Given the description of an element on the screen output the (x, y) to click on. 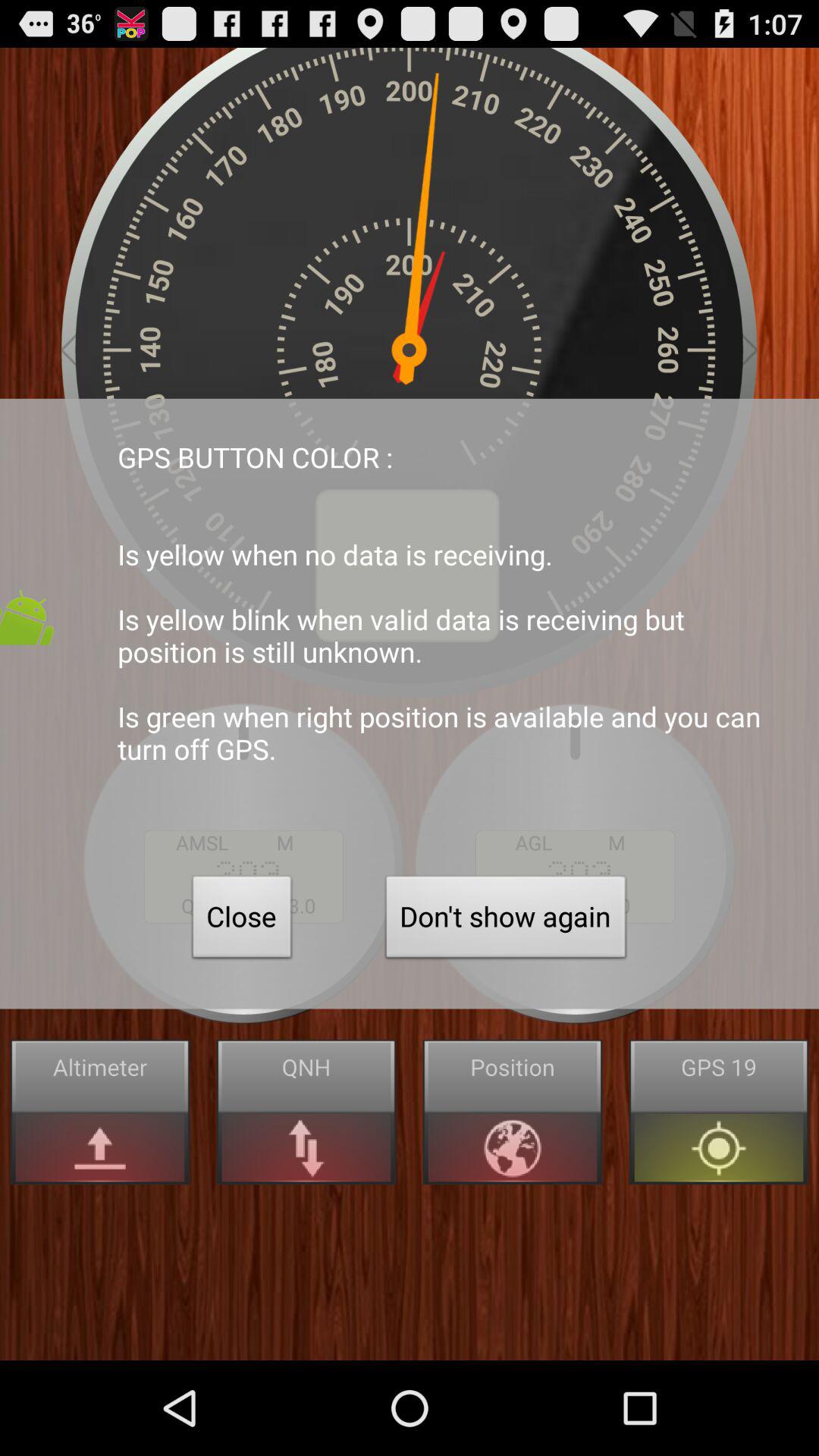
select the icon next to close (505, 921)
